Given the description of an element on the screen output the (x, y) to click on. 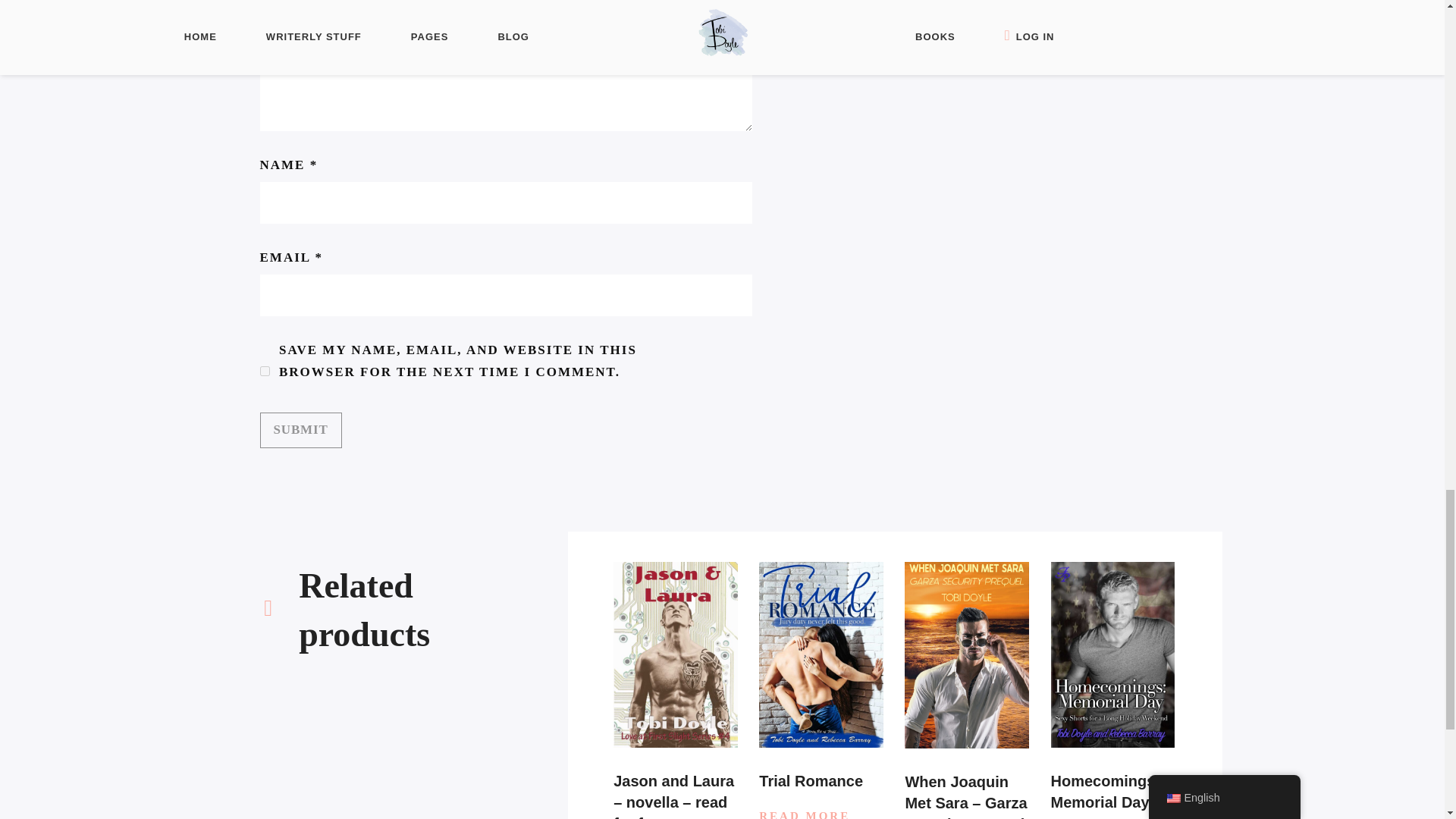
Submit (299, 429)
Submit (299, 429)
yes (264, 370)
READ MORE (820, 812)
